Given the description of an element on the screen output the (x, y) to click on. 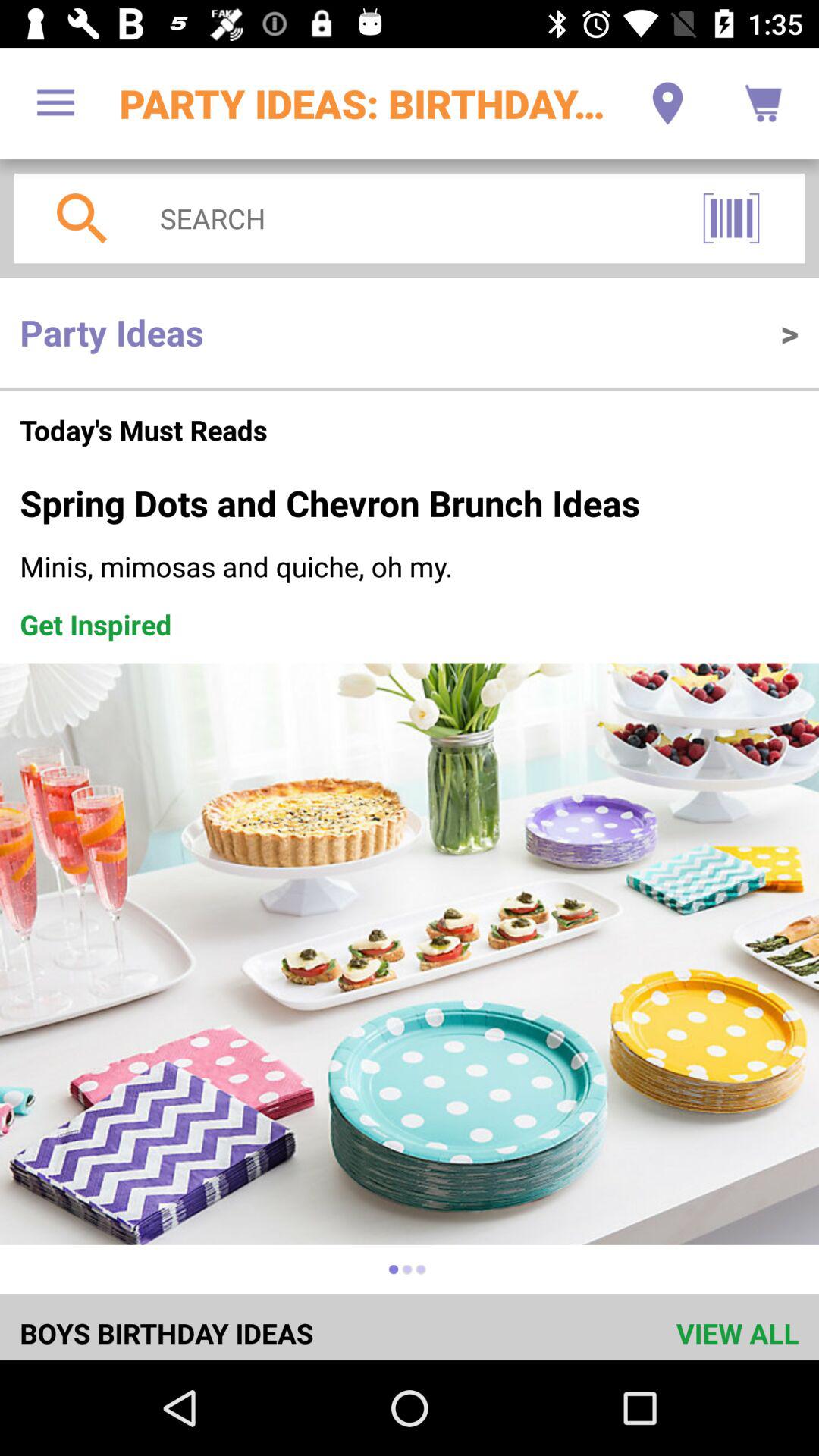
click the item above the party ideas icon (403, 218)
